Given the description of an element on the screen output the (x, y) to click on. 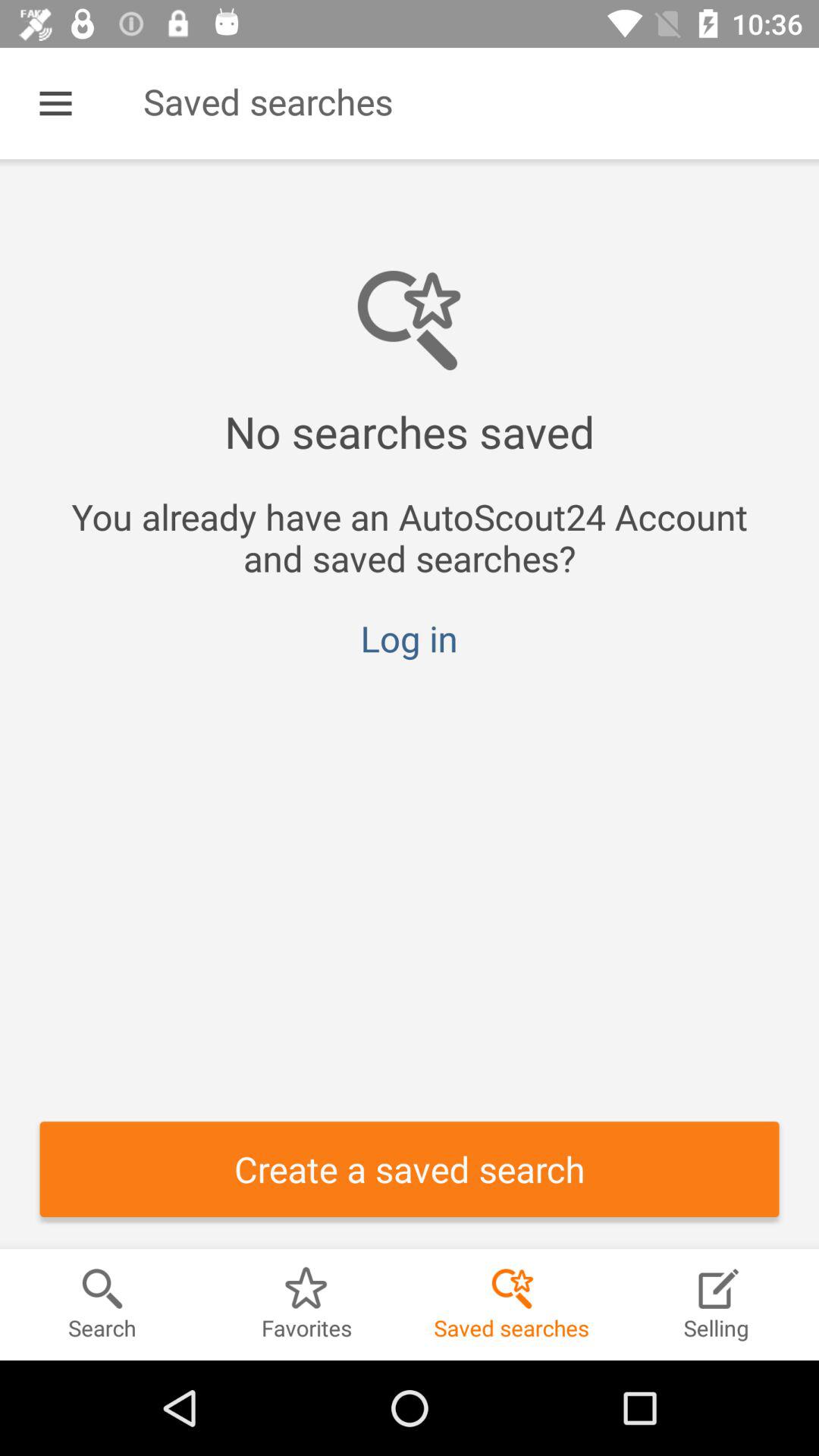
click icon below the you already have icon (408, 638)
